Given the description of an element on the screen output the (x, y) to click on. 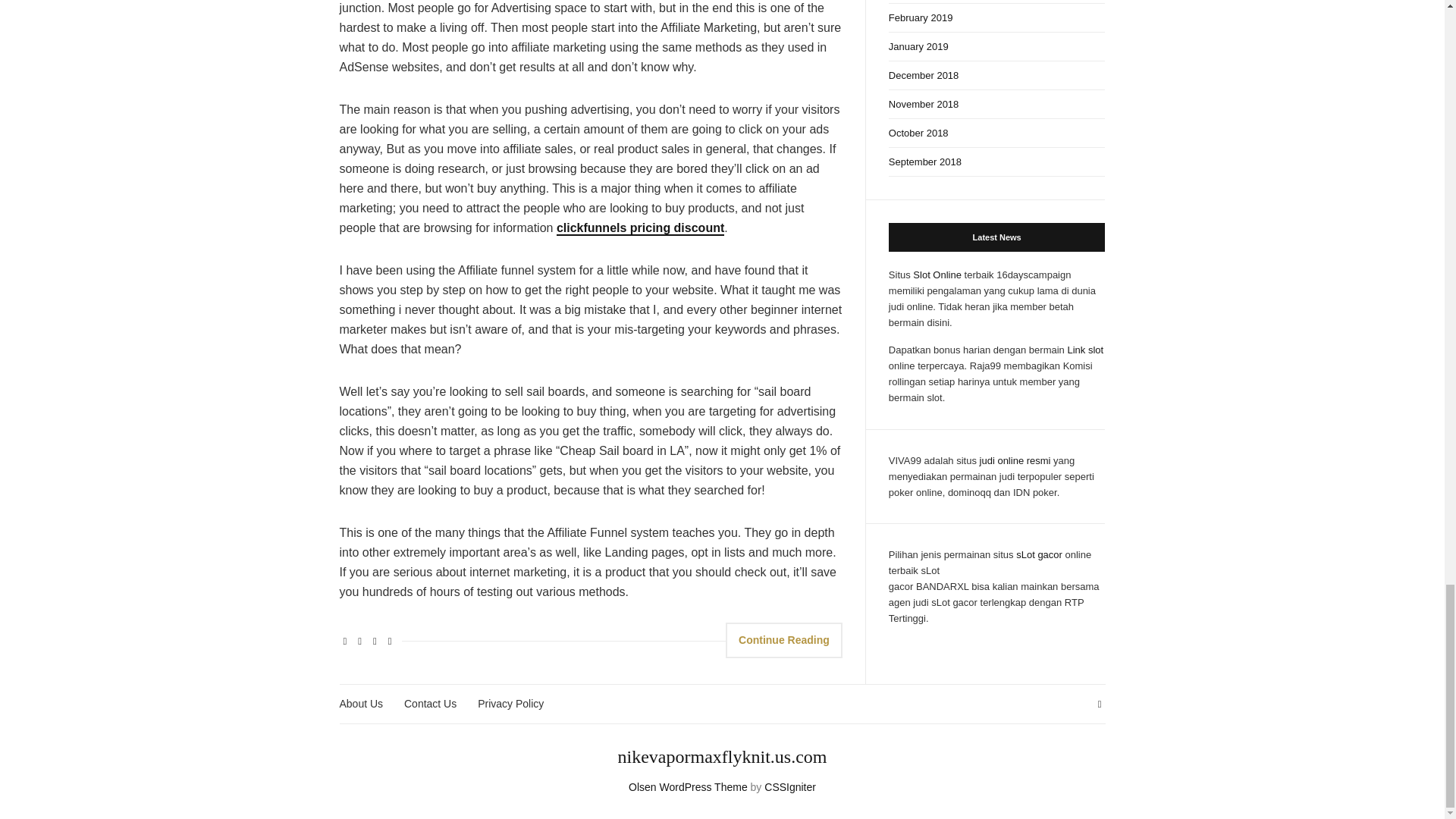
clickfunnels pricing discount (639, 228)
Continue Reading (784, 640)
Blogging theme for WordPress (688, 787)
